Given the description of an element on the screen output the (x, y) to click on. 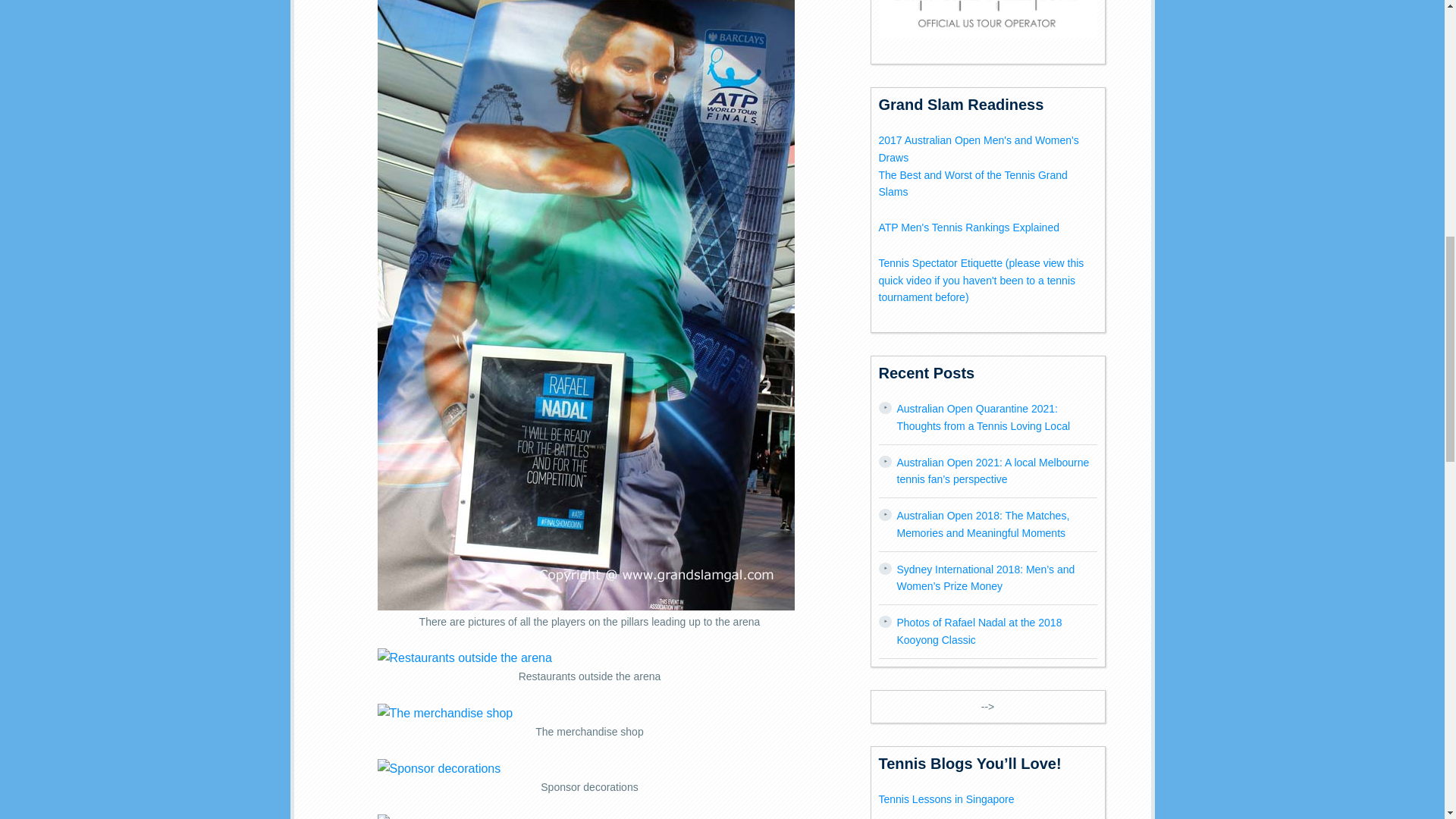
2017 Australian Open Men's and Women's Draws (977, 148)
Photos of Rafael Nadal at the 2018 Kooyong Classic (978, 631)
The Best and Worst of the Tennis Grand Slams (972, 183)
Tennis Lessons in Singapore (945, 799)
ATP Men's Tennis Rankings Explained (967, 227)
